Given the description of an element on the screen output the (x, y) to click on. 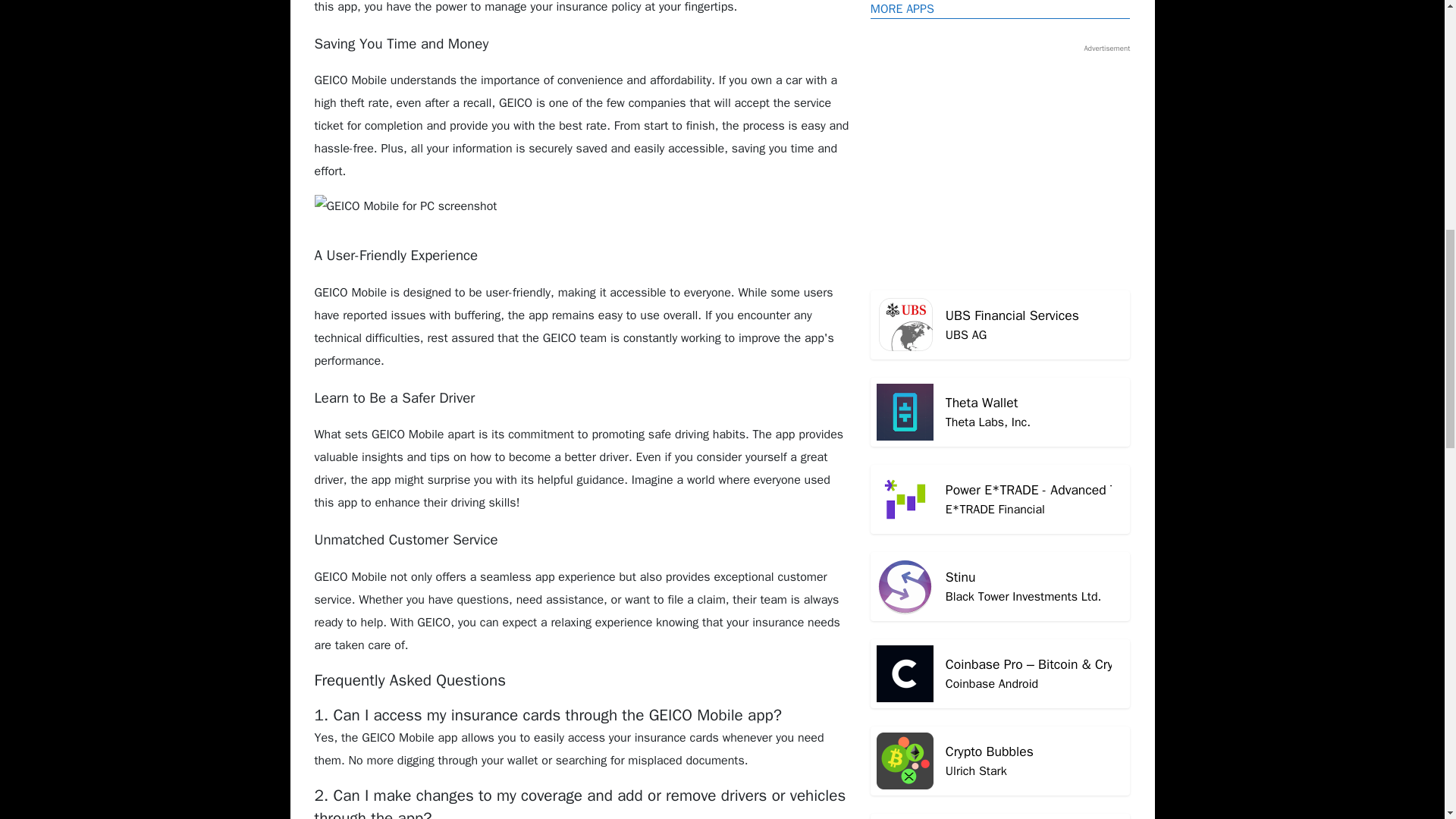
MetaTrader 4 for PC (1000, 444)
Crypto Bubbles for PC (1000, 444)
Mint: Budget, Bills, Finance for PC (1000, 75)
Monefy - Money Manager for PC (1000, 649)
GEICO Mobile for PC screenshot (1000, 376)
